Given the description of an element on the screen output the (x, y) to click on. 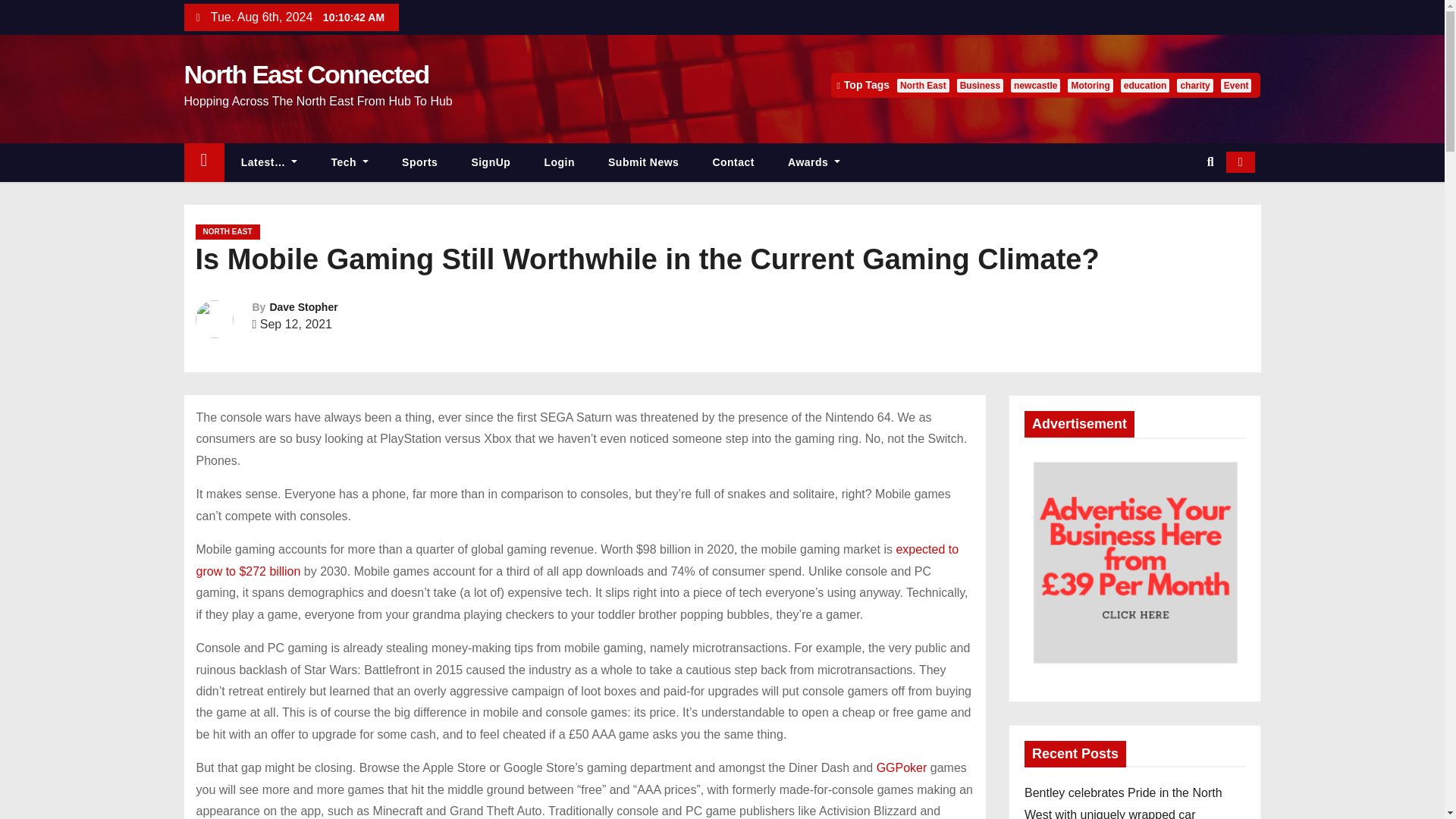
Login (559, 162)
Sports (419, 162)
North East (922, 85)
Motoring (1089, 85)
NORTH EAST (227, 231)
Login (559, 162)
Tech (349, 162)
education (1145, 85)
Sports (419, 162)
Submit News (643, 162)
Contact (733, 162)
SignUp (490, 162)
Submit News (643, 162)
Awards (814, 162)
Contact (733, 162)
